Given the description of an element on the screen output the (x, y) to click on. 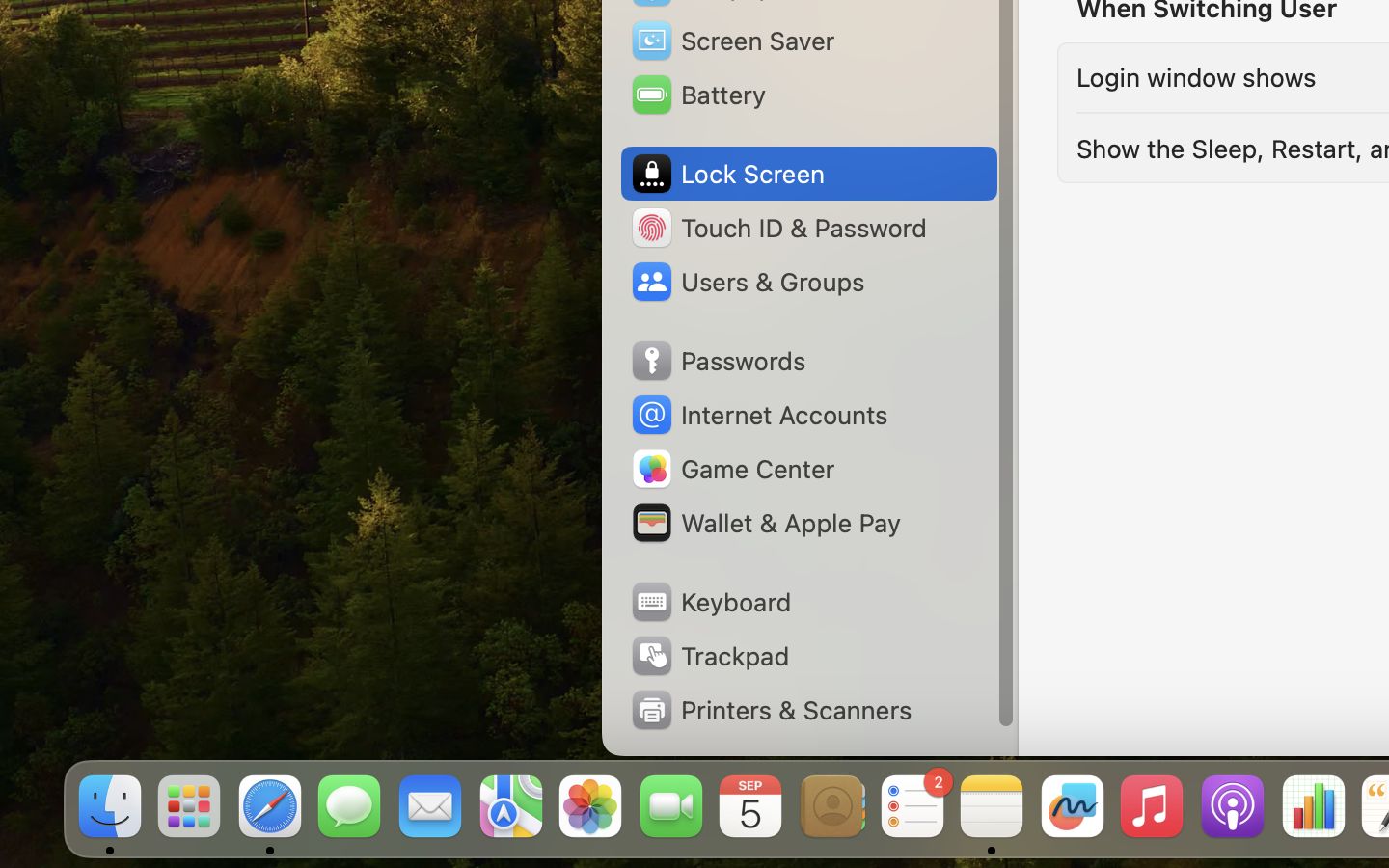
Login window shows Element type: AXStaticText (1195, 76)
Trackpad Element type: AXStaticText (708, 655)
Wallet & Apple Pay Element type: AXStaticText (764, 522)
